Given the description of an element on the screen output the (x, y) to click on. 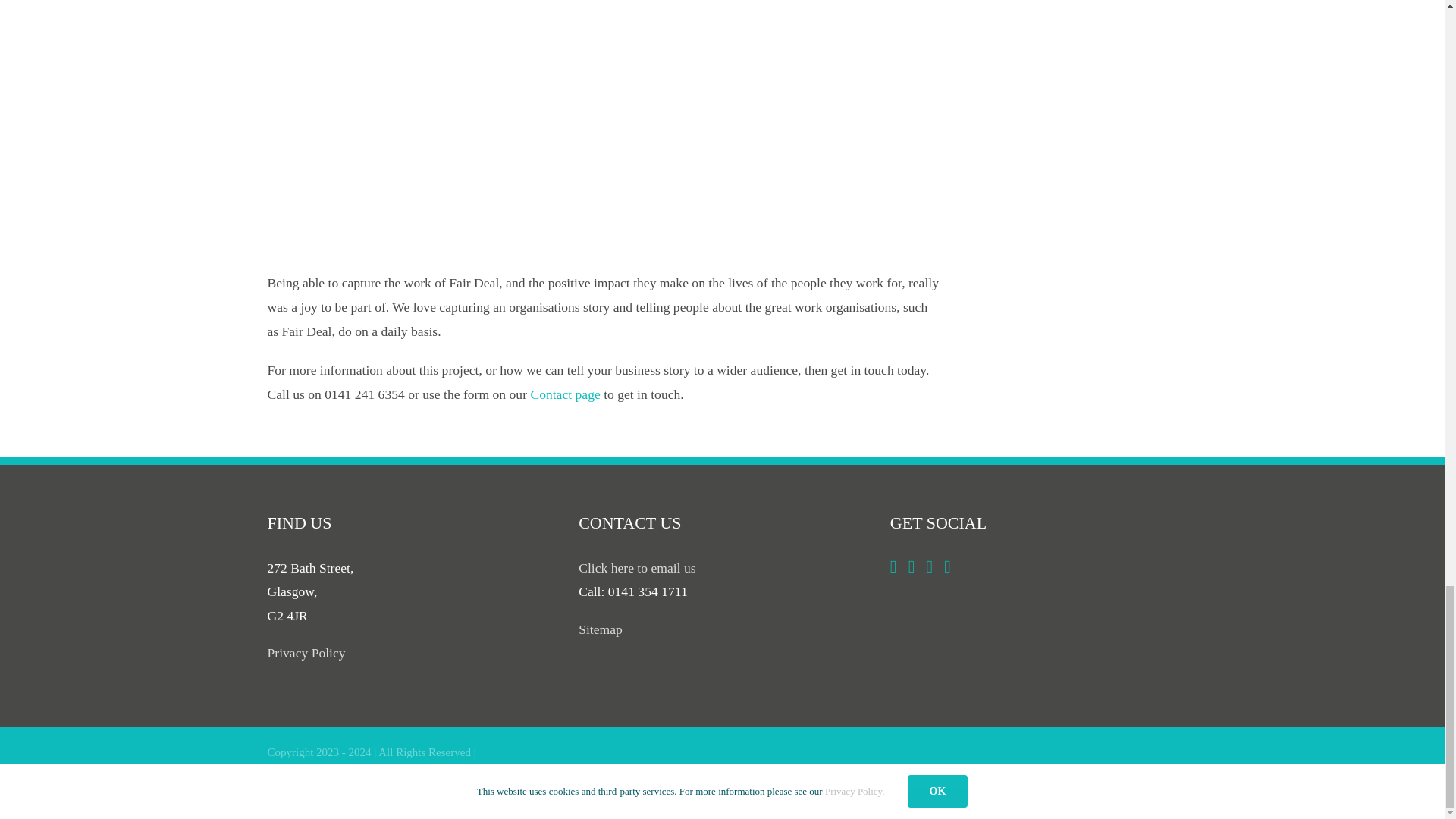
Sitemap (600, 629)
Contact page (564, 394)
Graphic Design Glasgow (418, 772)
Branding Glasgow (309, 772)
Privacy Policy (305, 652)
Website Design Glasgow (540, 772)
Social Media Glasgow (451, 793)
Click here to email us (636, 567)
Digital Marketing Glasgow (328, 793)
